Given the description of an element on the screen output the (x, y) to click on. 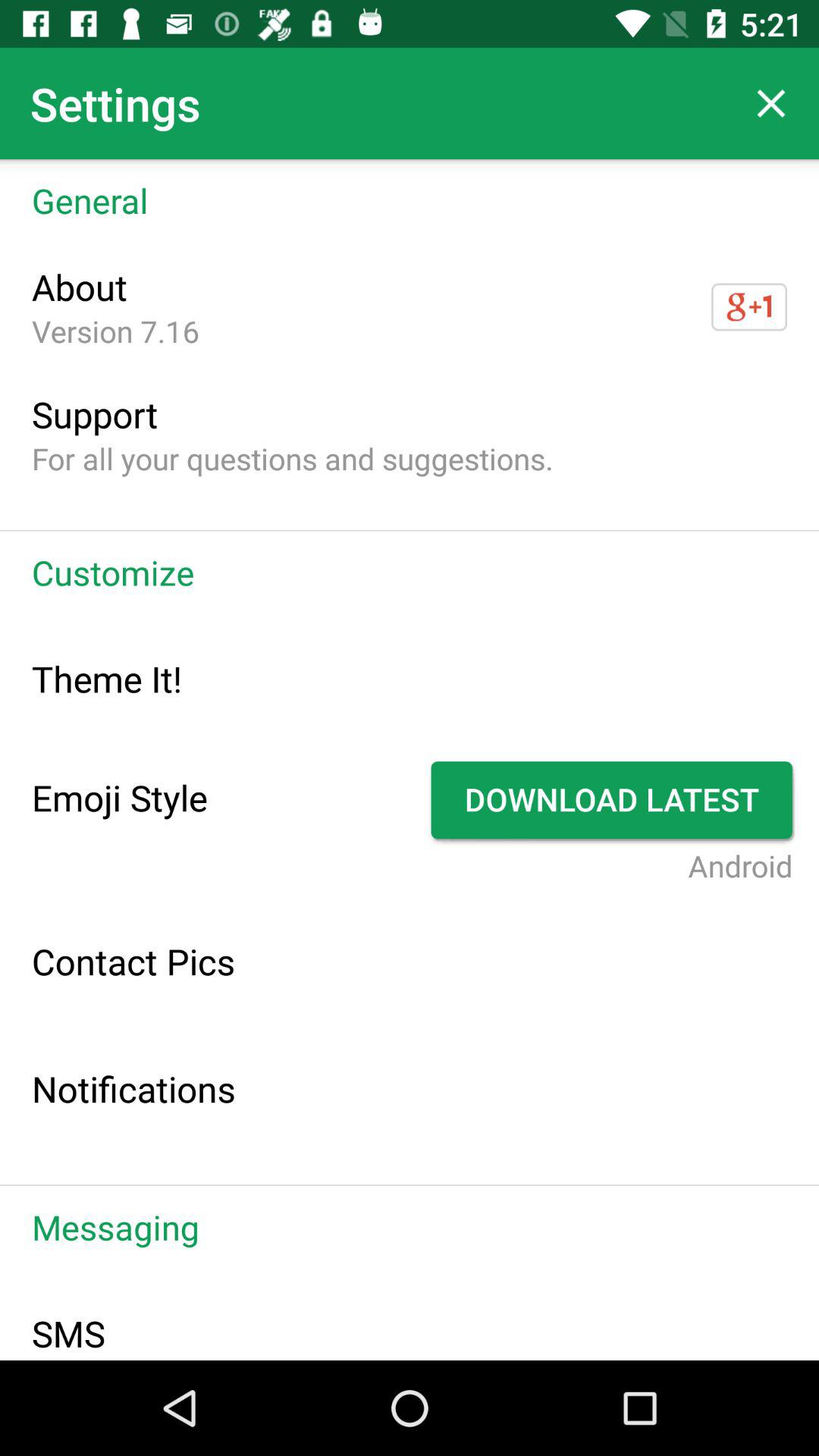
scroll until the download latest icon (613, 799)
